Given the description of an element on the screen output the (x, y) to click on. 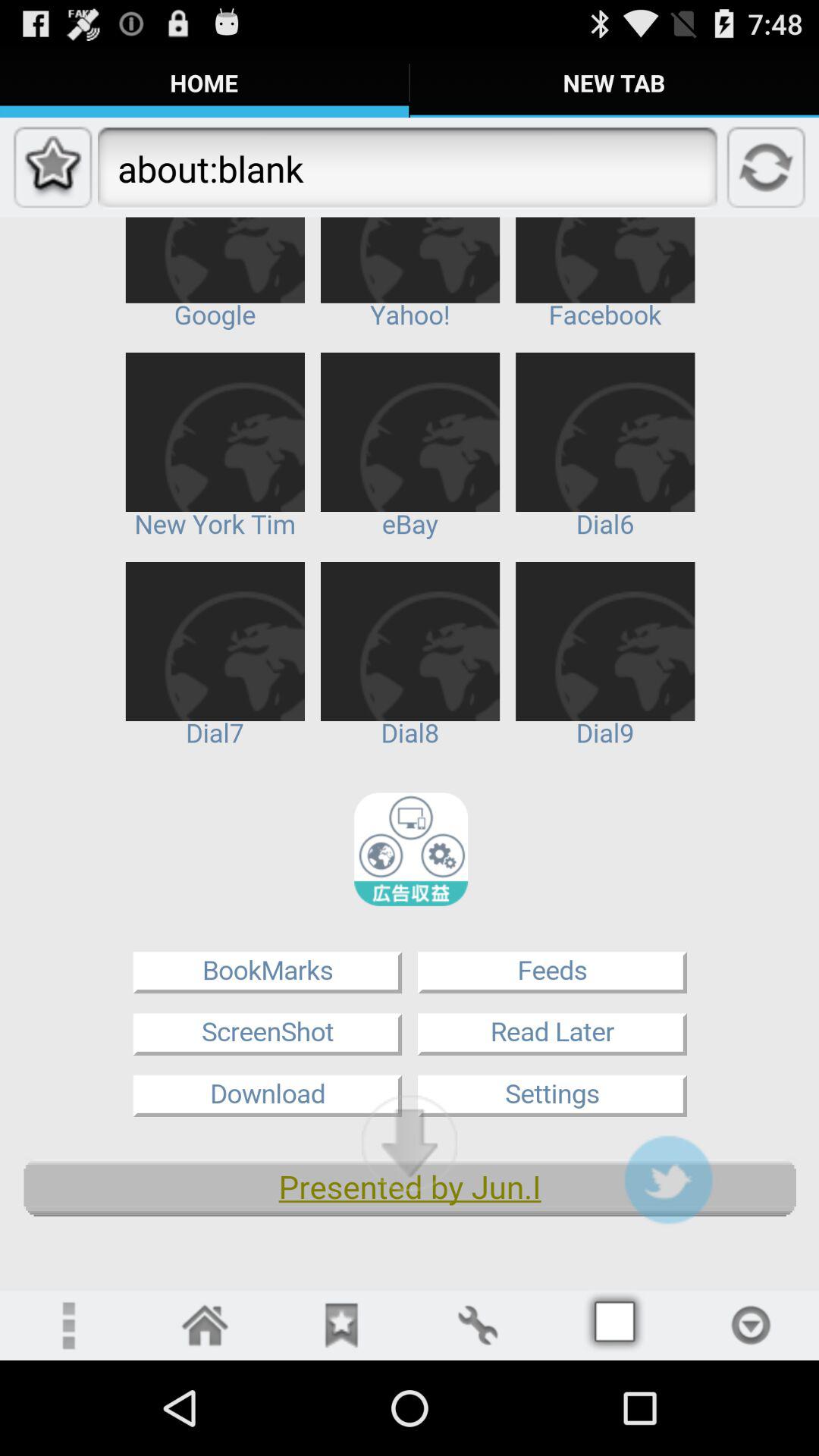
rive (341, 1325)
